Given the description of an element on the screen output the (x, y) to click on. 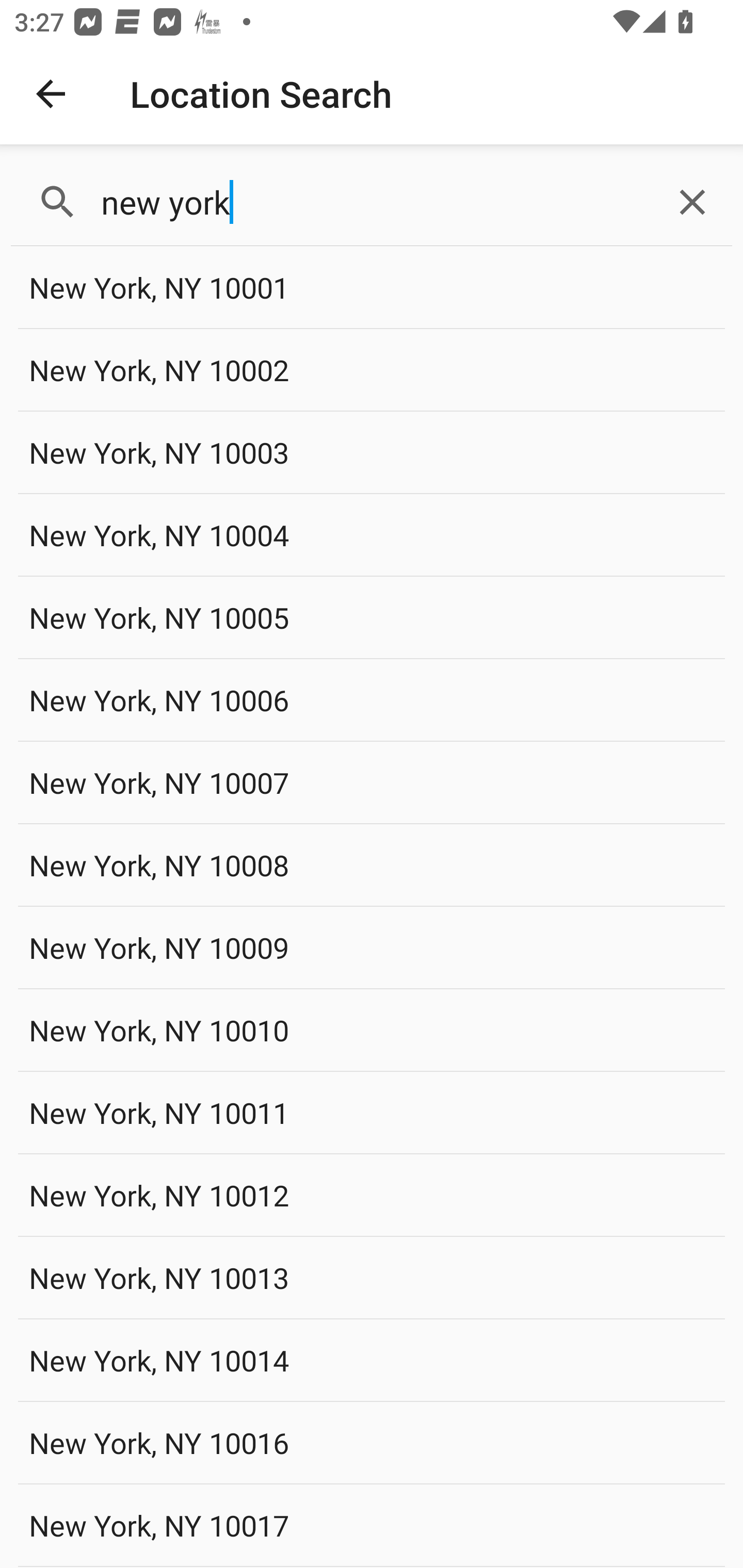
Navigate up (50, 93)
Clear query (692, 202)
new york (371, 202)
New York, NY 10001 (371, 287)
New York, NY 10002 (371, 369)
New York, NY 10003 (371, 451)
New York, NY 10004 (371, 534)
New York, NY 10005 (371, 616)
New York, NY 10006 (371, 699)
New York, NY 10007 (371, 782)
New York, NY 10008 (371, 864)
New York, NY 10009 (371, 947)
New York, NY 10010 (371, 1029)
New York, NY 10011 (371, 1112)
New York, NY 10012 (371, 1194)
New York, NY 10013 (371, 1276)
New York, NY 10014 (371, 1359)
New York, NY 10016 (371, 1442)
New York, NY 10017 (371, 1524)
